Given the description of an element on the screen output the (x, y) to click on. 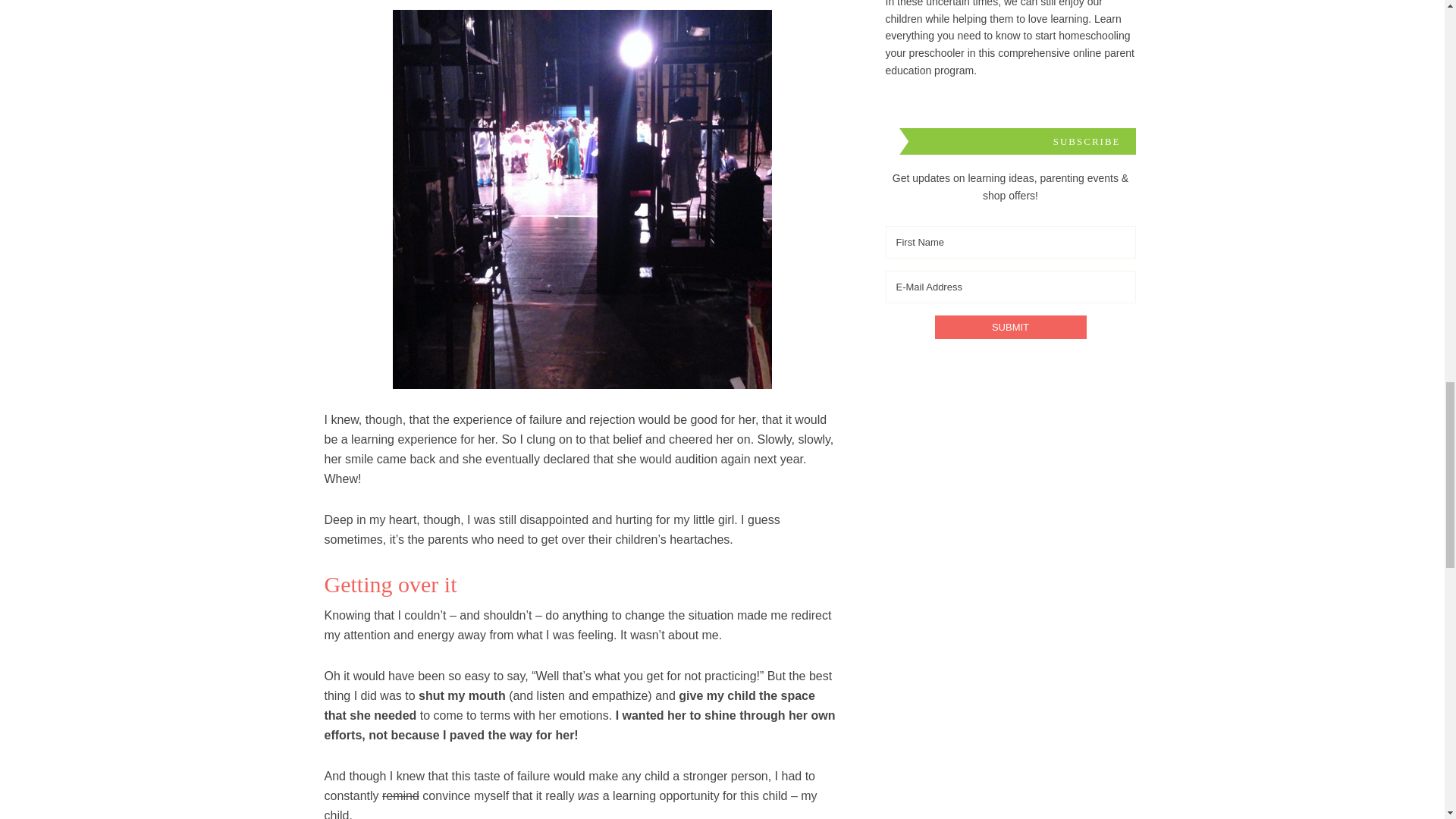
Submit (1010, 327)
